Given the description of an element on the screen output the (x, y) to click on. 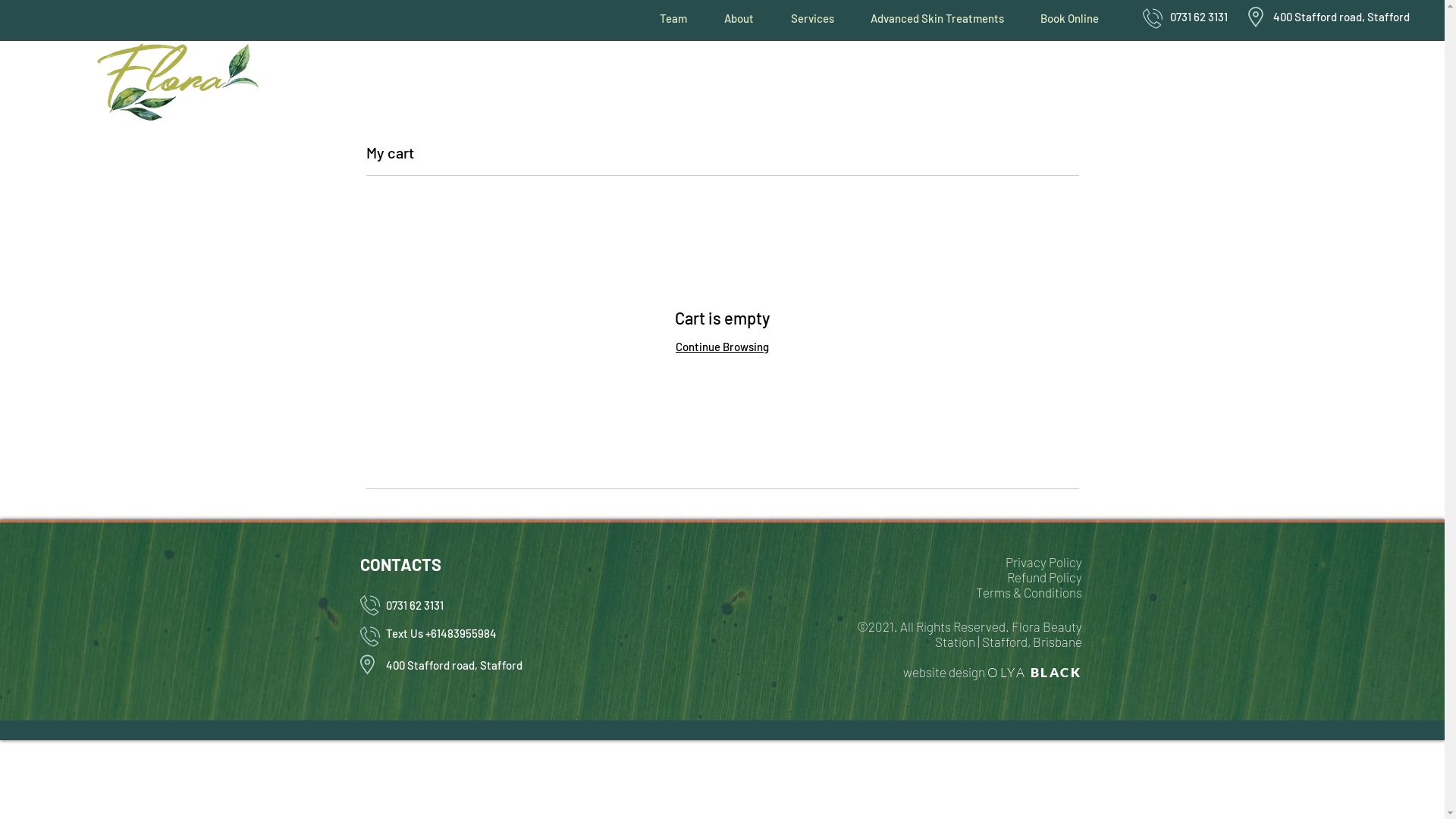
Team Element type: text (672, 18)
OLYA BLACK Element type: text (1034, 671)
Terms & Conditions Element type: text (1028, 591)
Continue Browsing Element type: text (721, 346)
Book Online Element type: text (1069, 18)
Refund Policy Element type: text (1044, 576)
About Element type: text (738, 18)
Privacy Policy Element type: text (1043, 561)
